Given the description of an element on the screen output the (x, y) to click on. 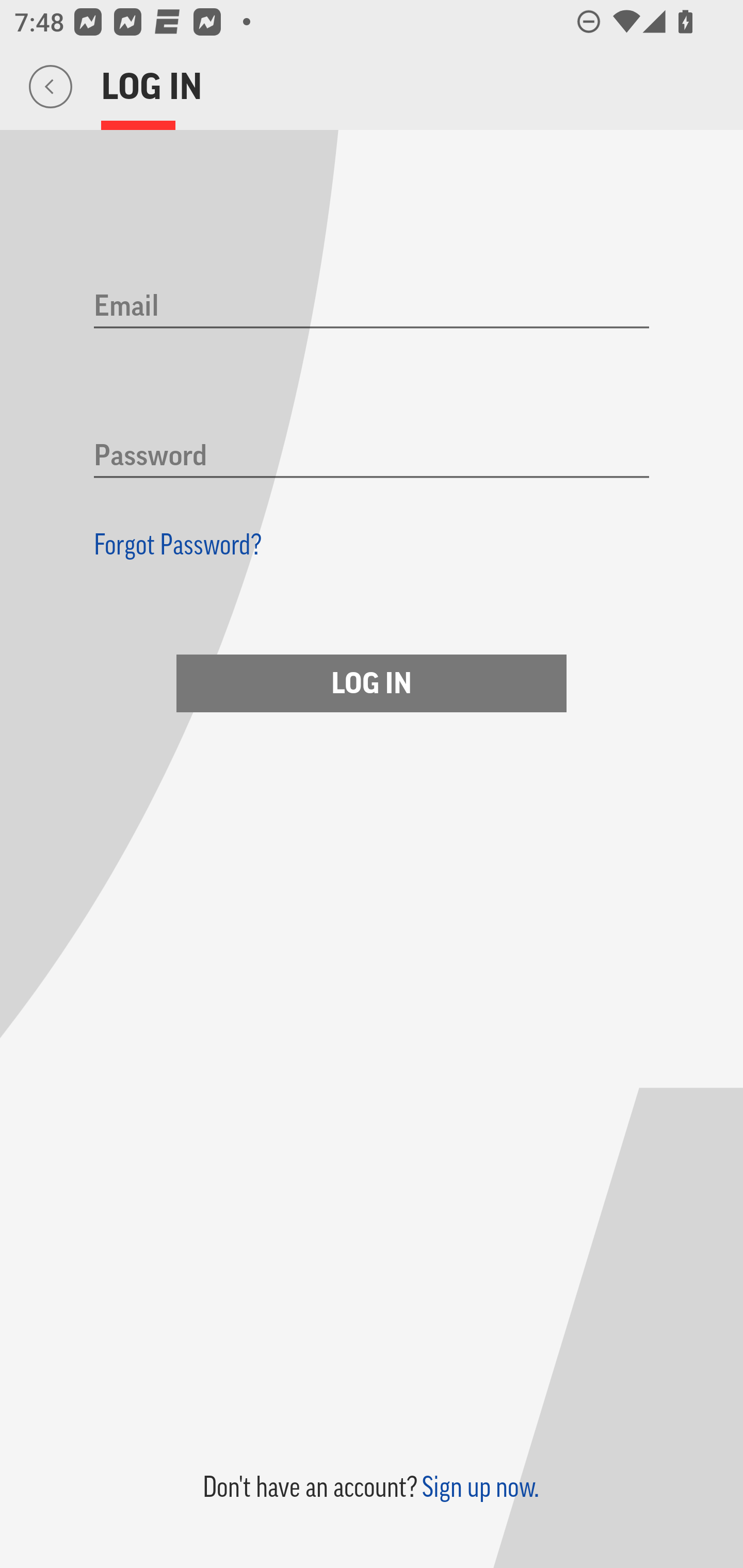
Email (371, 306)
Password (371, 456)
Forgot Password? (177, 543)
LOG IN (371, 682)
Don't have an account? Sign up now. (370, 1485)
